Given the description of an element on the screen output the (x, y) to click on. 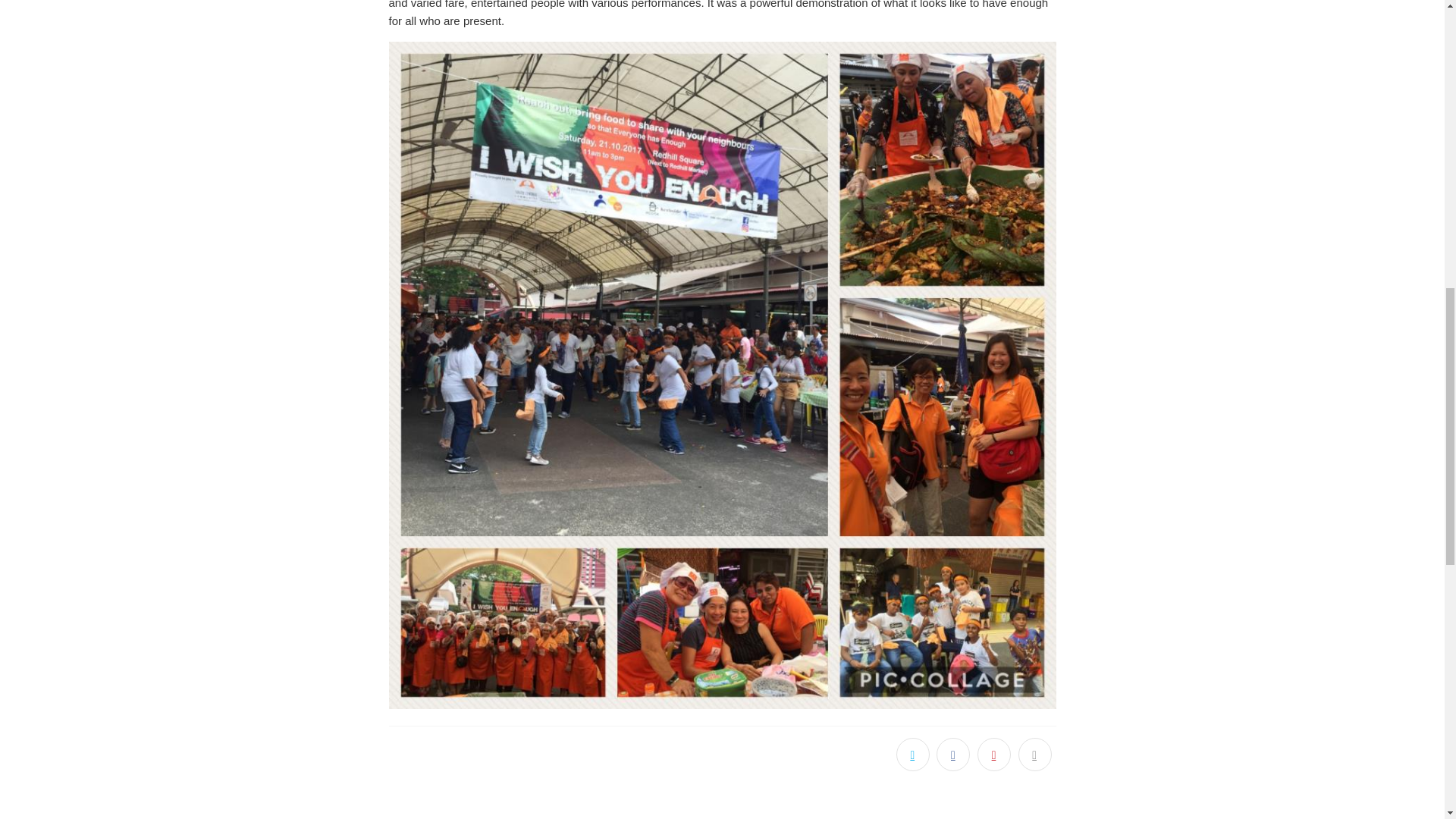
Share this on Pinterest (993, 754)
Share this on Facebook (952, 754)
Share this on Twitter (913, 754)
Email this to a friend (1034, 754)
